Given the description of an element on the screen output the (x, y) to click on. 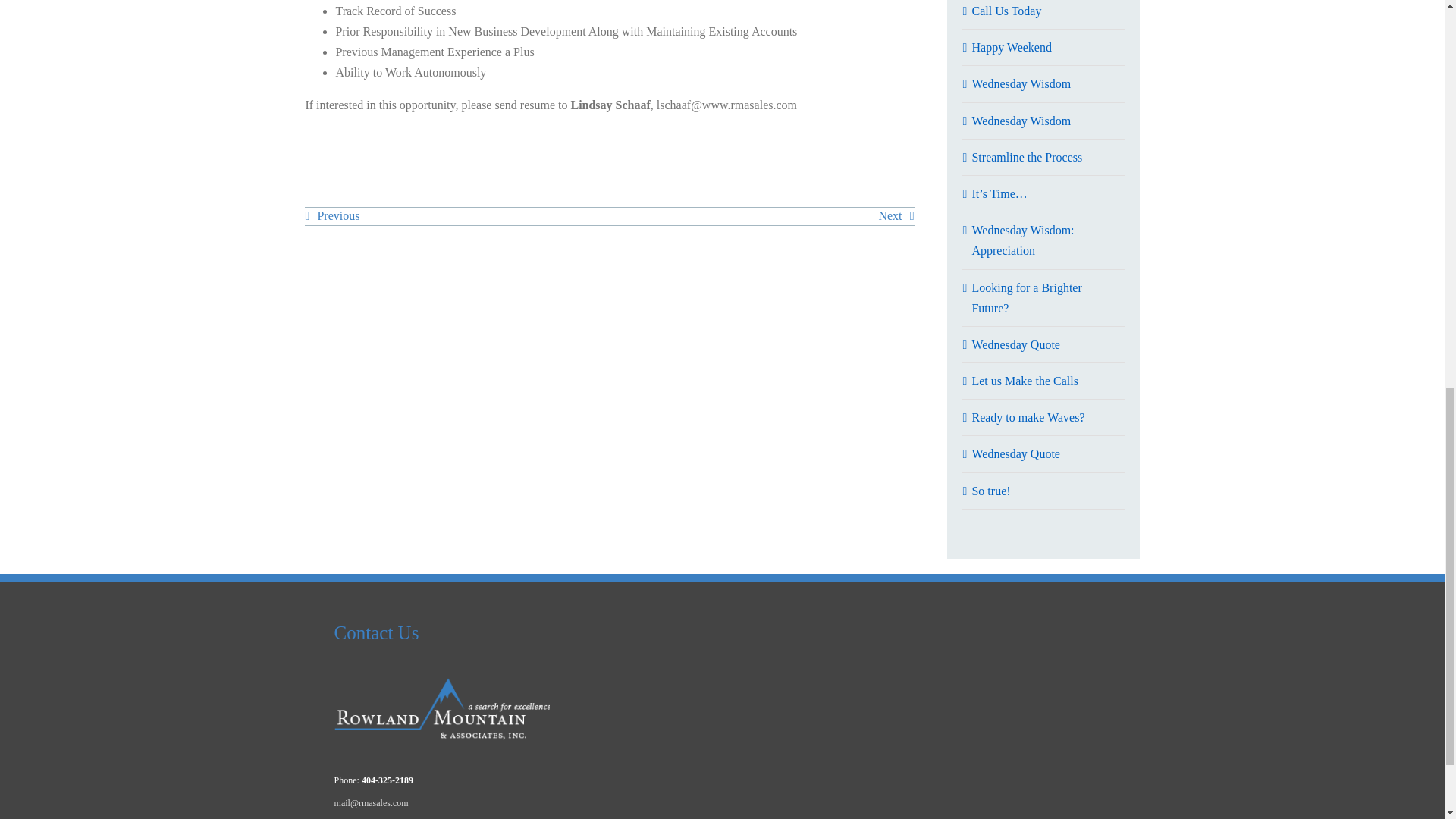
Looking for a Brighter Future? (1026, 296)
Streamline the Process (1026, 156)
Next (895, 215)
Let us Make the Calls (1024, 380)
Call Us Today (1006, 10)
rma-LOGO-white (442, 710)
Ready to make Waves? (1027, 417)
Previous (331, 215)
Wednesday Wisdom: Appreciation (1022, 240)
Wednesday Quote (1015, 344)
